Given the description of an element on the screen output the (x, y) to click on. 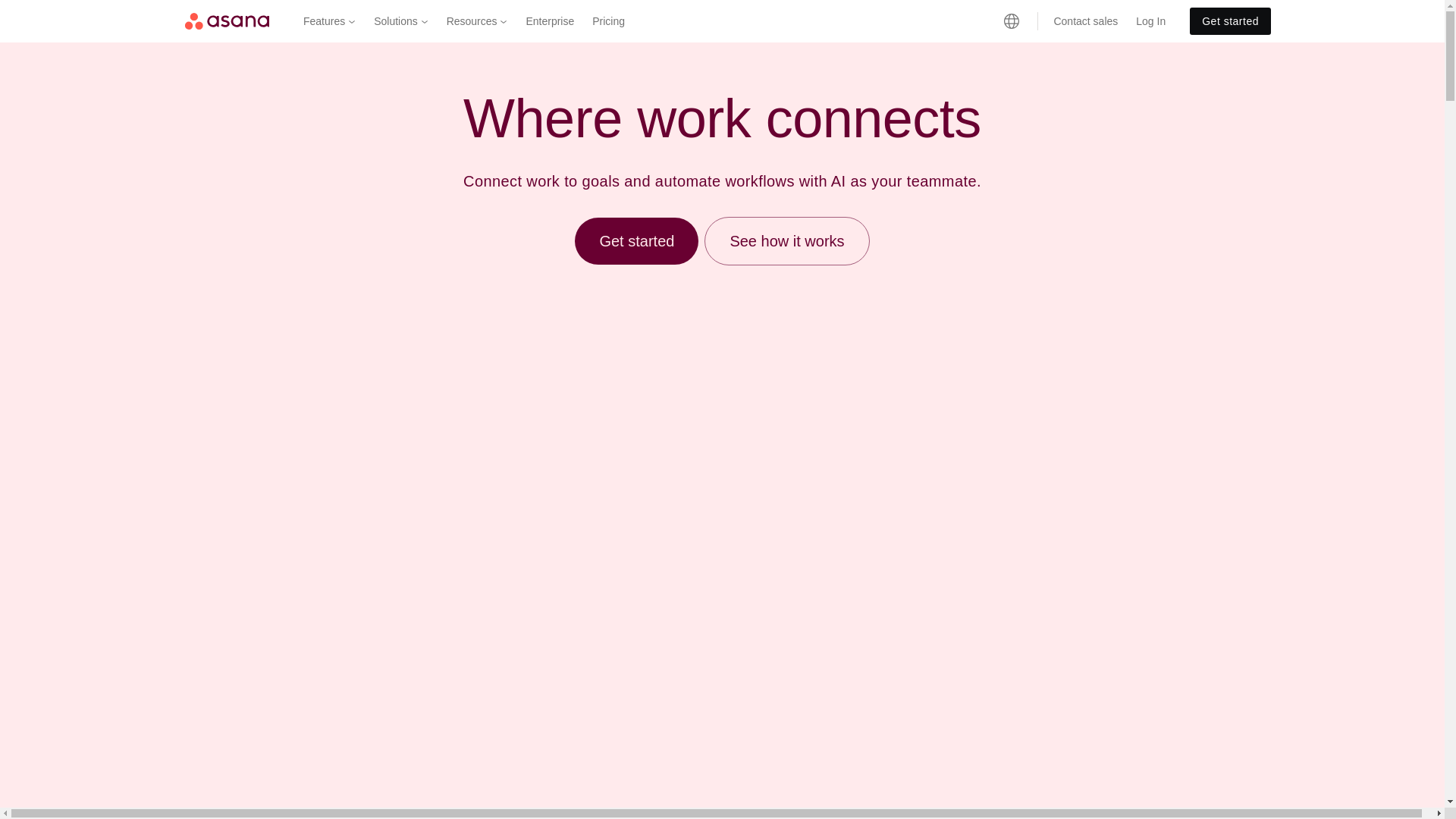
Get started (1230, 21)
Log In (1150, 21)
Get started (1230, 21)
Solutions chevron-down icon (400, 21)
Features chevron-down icon (329, 21)
Contact sales (1084, 21)
Pricing (608, 21)
Resources chevron-down icon (477, 21)
chevron-down icon (502, 21)
Enterprise (549, 21)
chevron-down icon (424, 21)
chevron-down icon (351, 21)
